Given the description of an element on the screen output the (x, y) to click on. 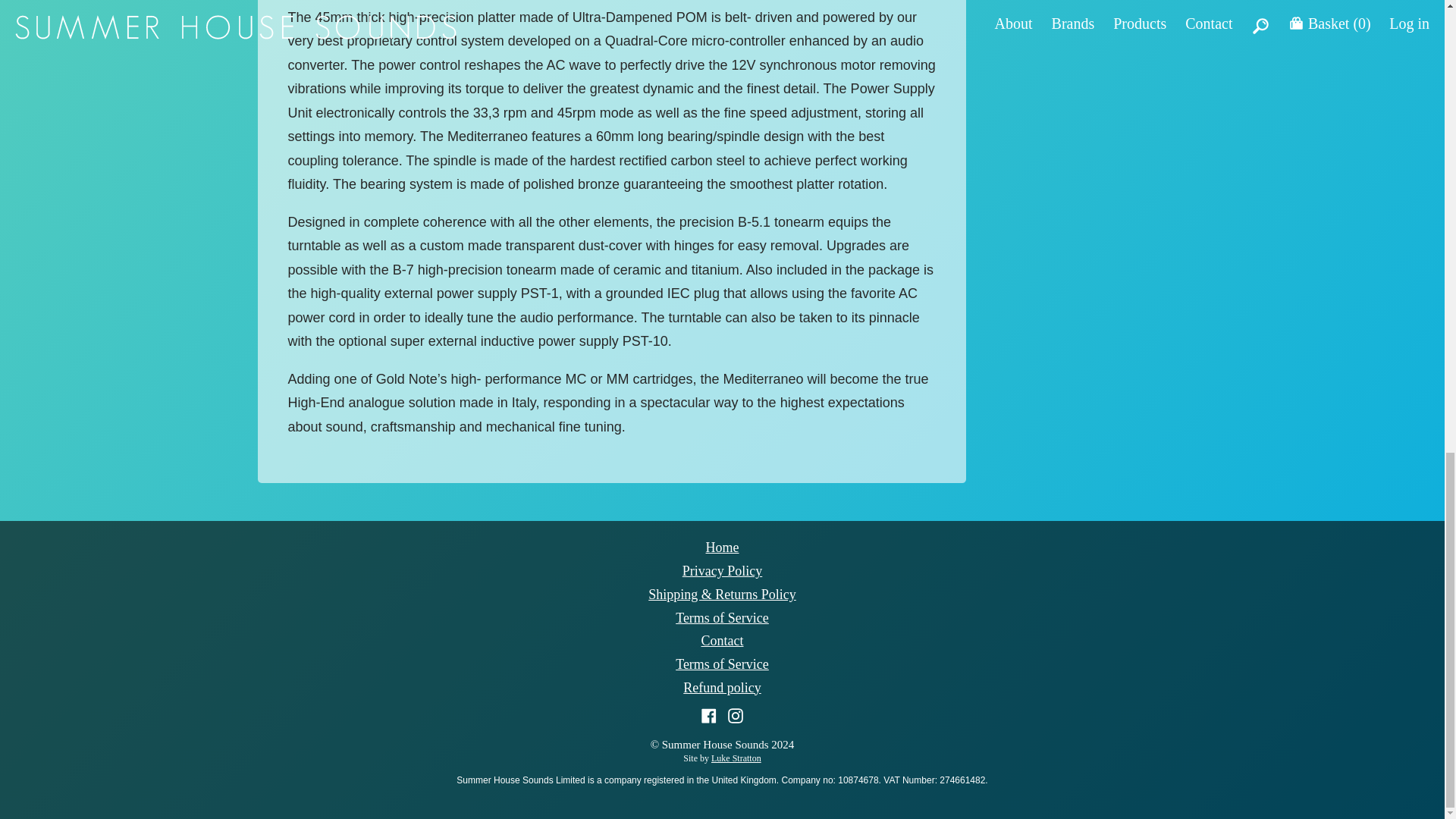
Privacy Policy (722, 570)
Refund policy (721, 687)
Summer House Sounds on Instagram (735, 713)
Luke Stratton (736, 757)
Contact (721, 640)
Facebook (710, 713)
Terms of Service (721, 616)
Terms of Service (721, 663)
Instagram (735, 713)
Summer House Sounds on Facebook (710, 713)
